Given the description of an element on the screen output the (x, y) to click on. 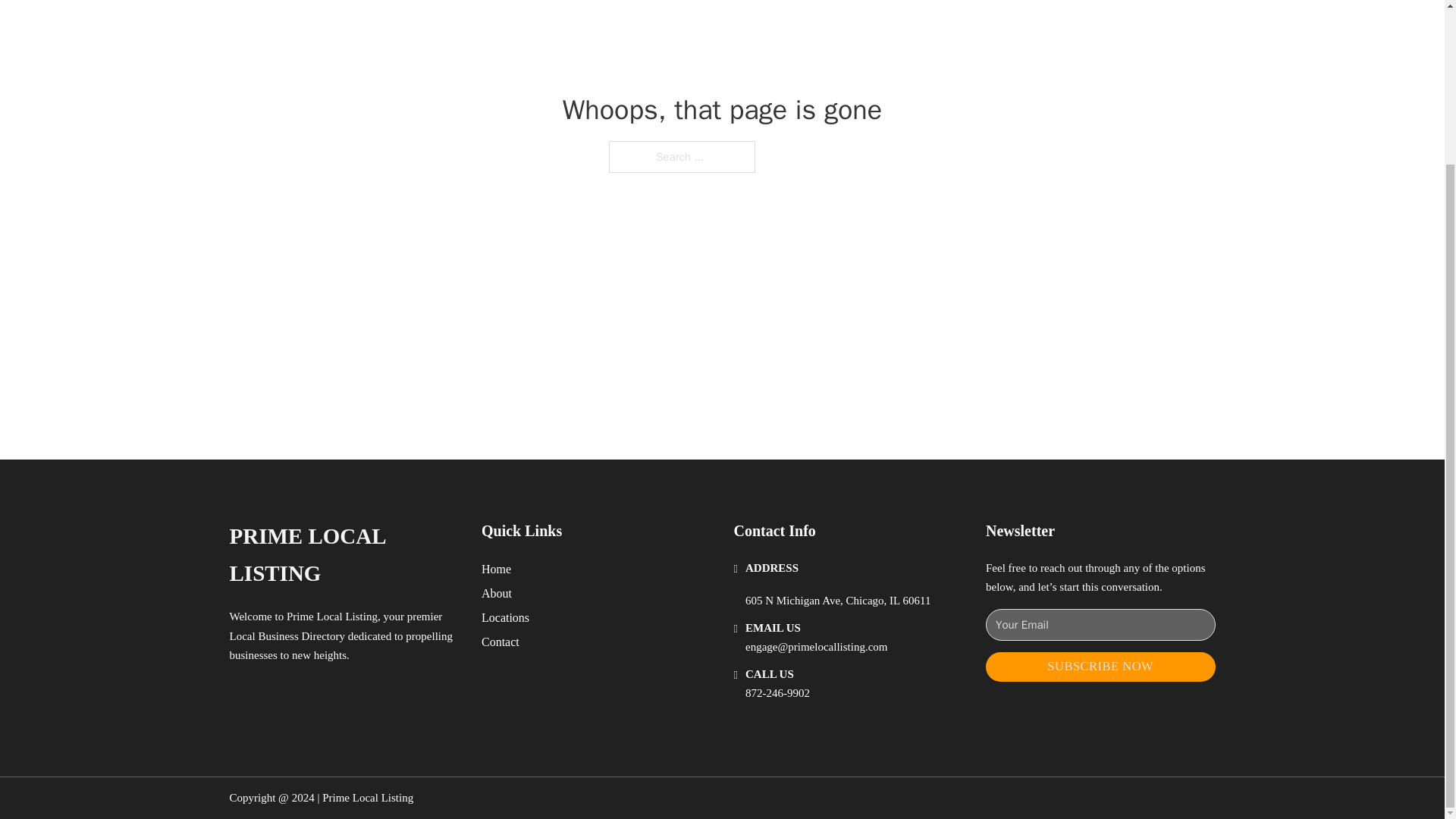
PRIME LOCAL LISTING (343, 554)
Locations (505, 617)
SUBSCRIBE NOW (1100, 666)
872-246-9902 (777, 693)
Contact (500, 641)
About (496, 593)
Home (496, 568)
